Given the description of an element on the screen output the (x, y) to click on. 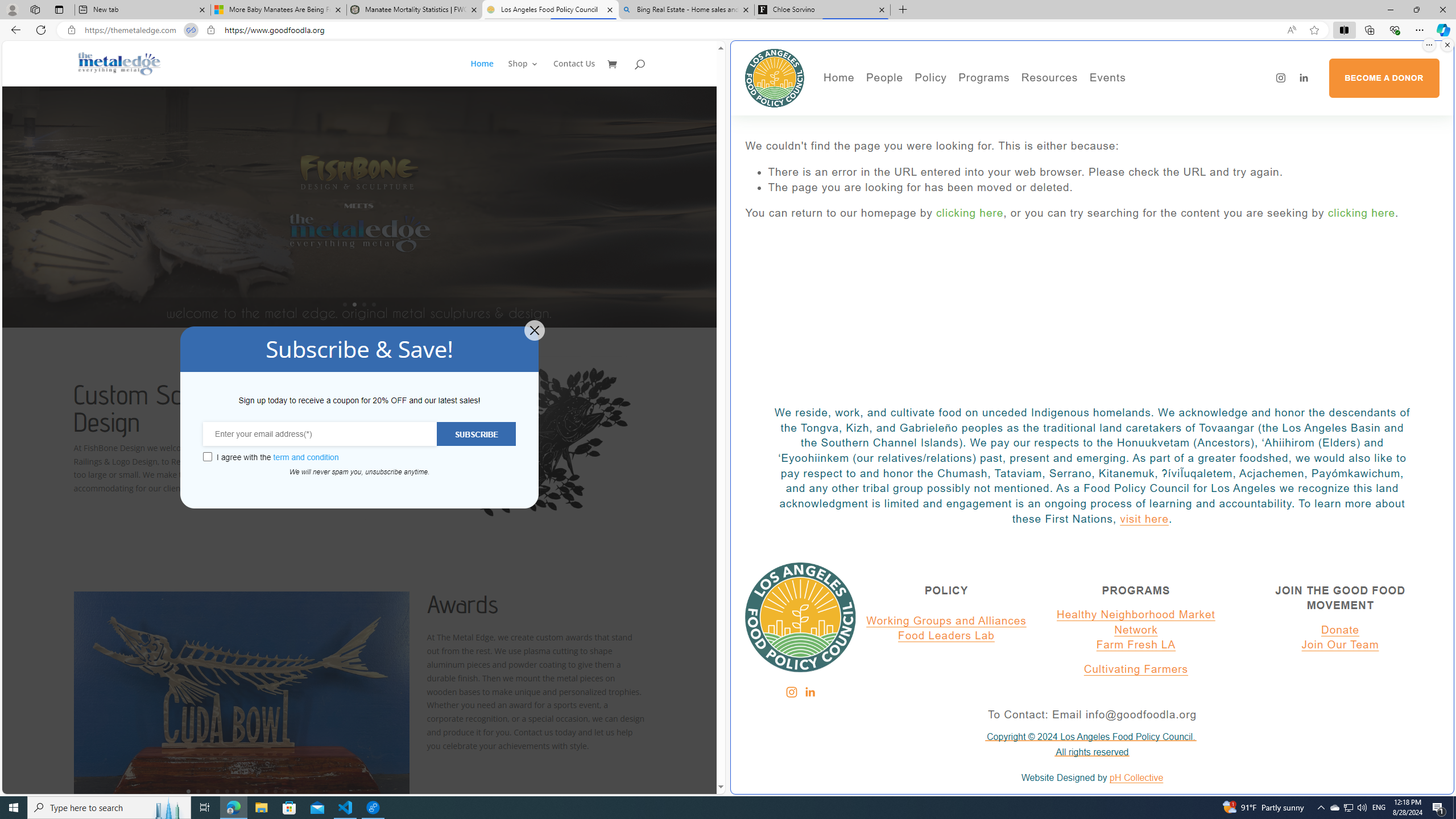
Publications (994, 116)
visit here (1144, 519)
Enter your email address(*) (319, 433)
Food Leaders Lab (946, 636)
About (922, 99)
4 (217, 790)
Donate (1339, 630)
Chloe Sorvino (822, 9)
Tabs in split screen (190, 29)
